Given the description of an element on the screen output the (x, y) to click on. 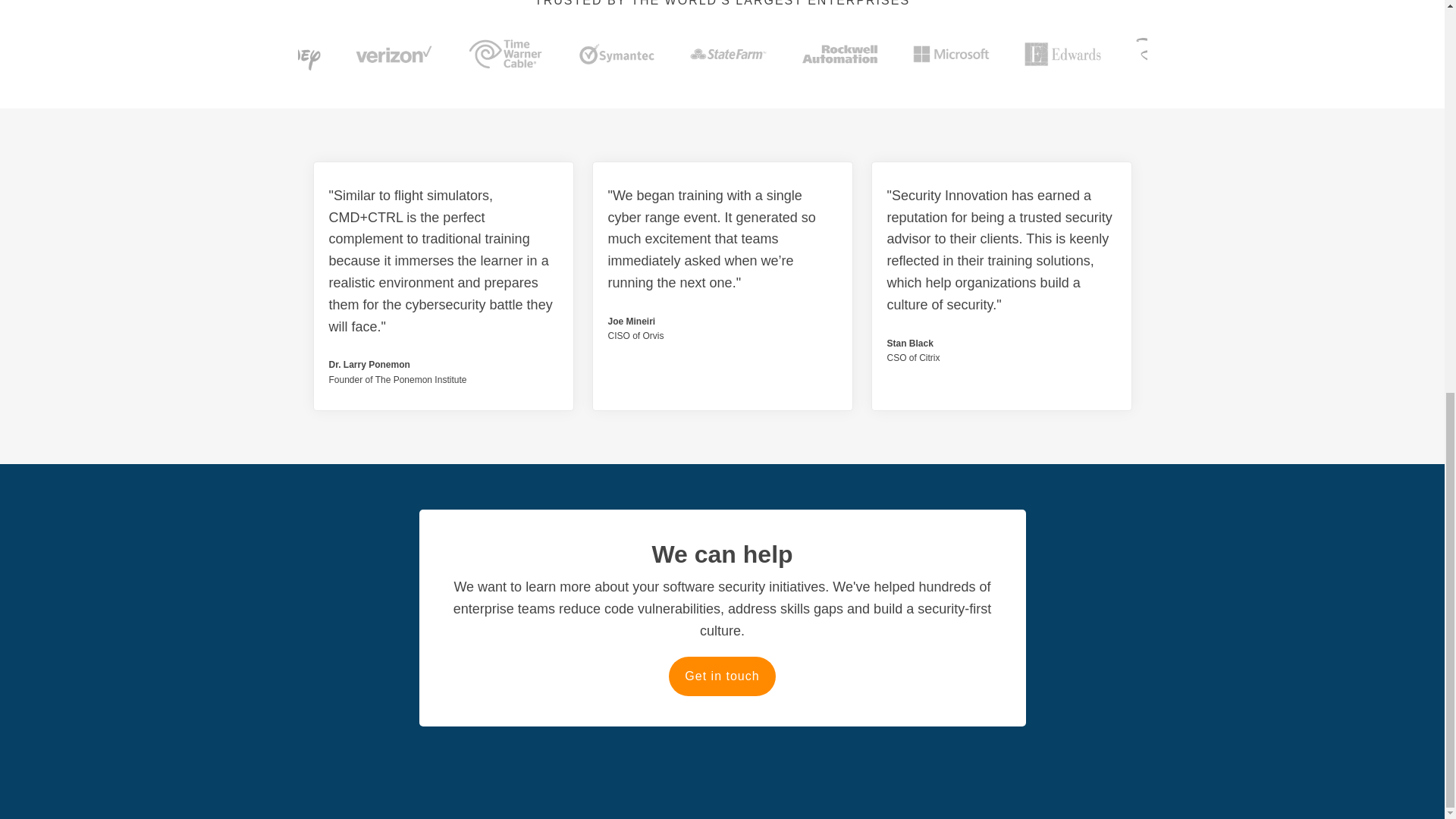
Get in touch (721, 676)
